Given the description of an element on the screen output the (x, y) to click on. 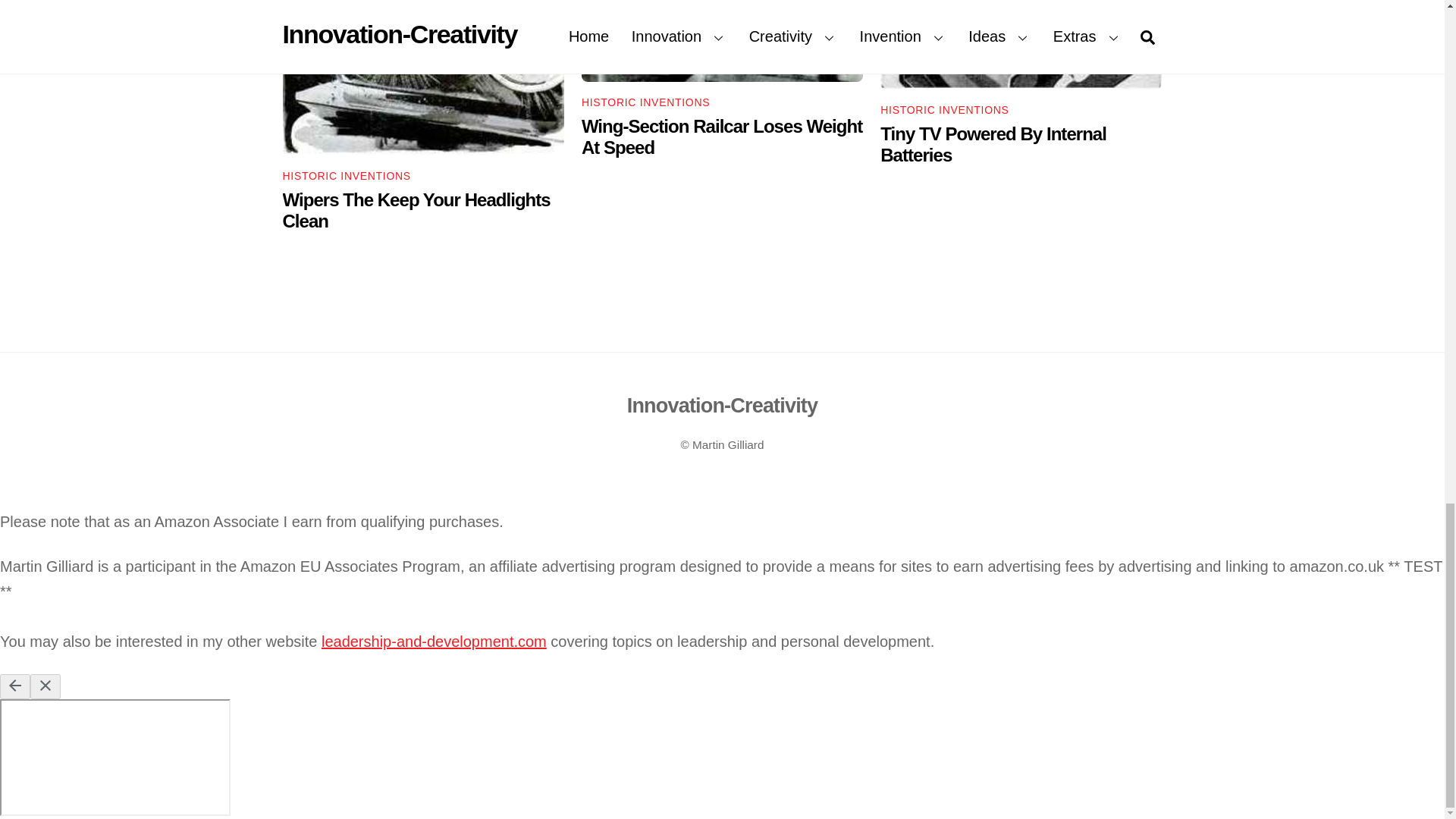
Innovation-Creativity (722, 404)
tiny-tv-powered-by-internal-batteries-21539246 (1020, 44)
